Given the description of an element on the screen output the (x, y) to click on. 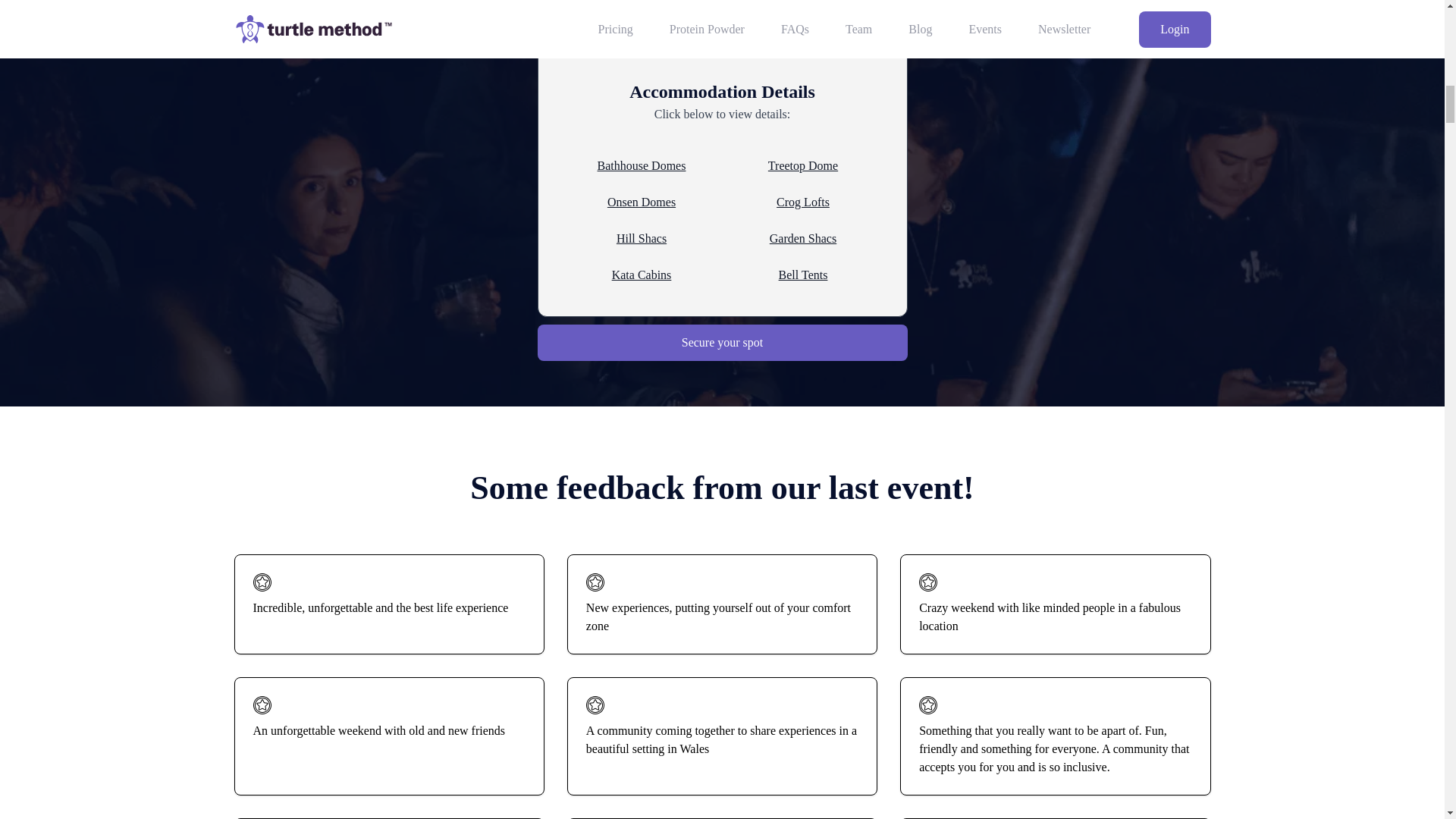
Bathhouse Domes (641, 165)
Crog Lofts (802, 201)
Hill Shacs (641, 238)
Onsen Domes (641, 201)
Treetop Dome (802, 165)
Garden Shacs (802, 238)
Kata Cabins (641, 274)
Bell Tents (802, 274)
Secure your spot (722, 342)
